Given the description of an element on the screen output the (x, y) to click on. 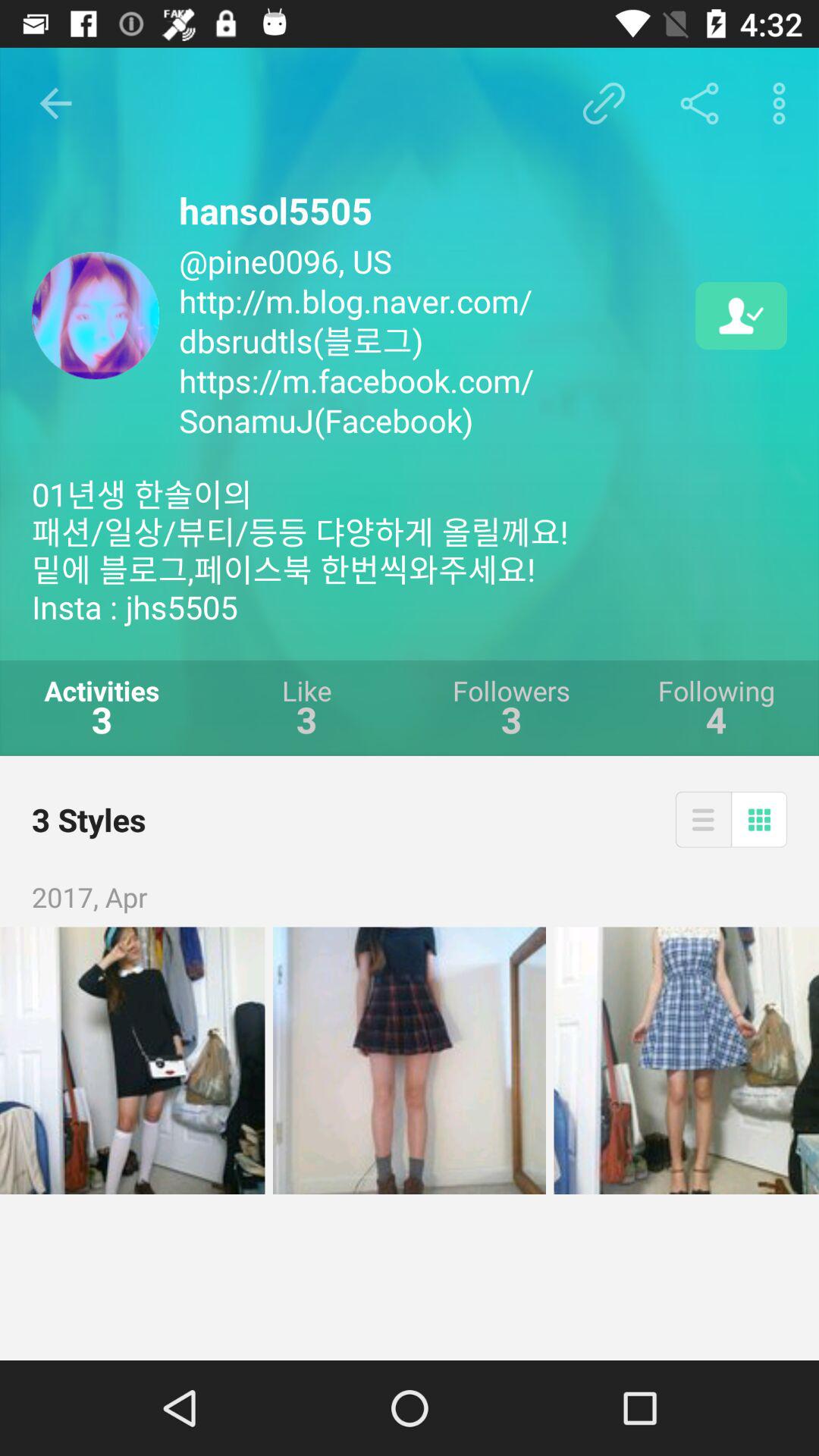
press the icon above the 2017, apr (702, 819)
